Given the description of an element on the screen output the (x, y) to click on. 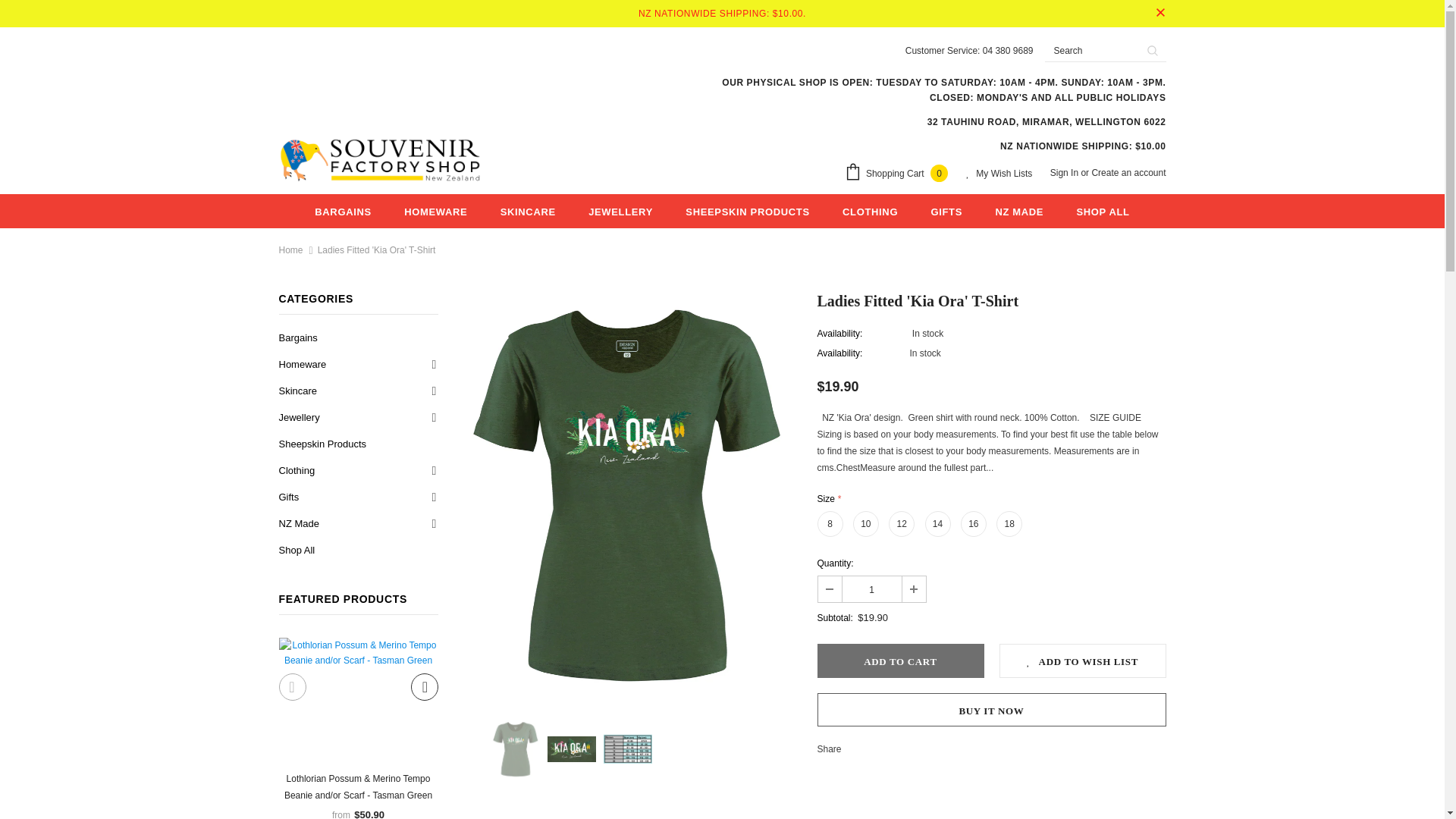
close (1160, 13)
Add to Cart (900, 660)
1 (871, 588)
